Given the description of an element on the screen output the (x, y) to click on. 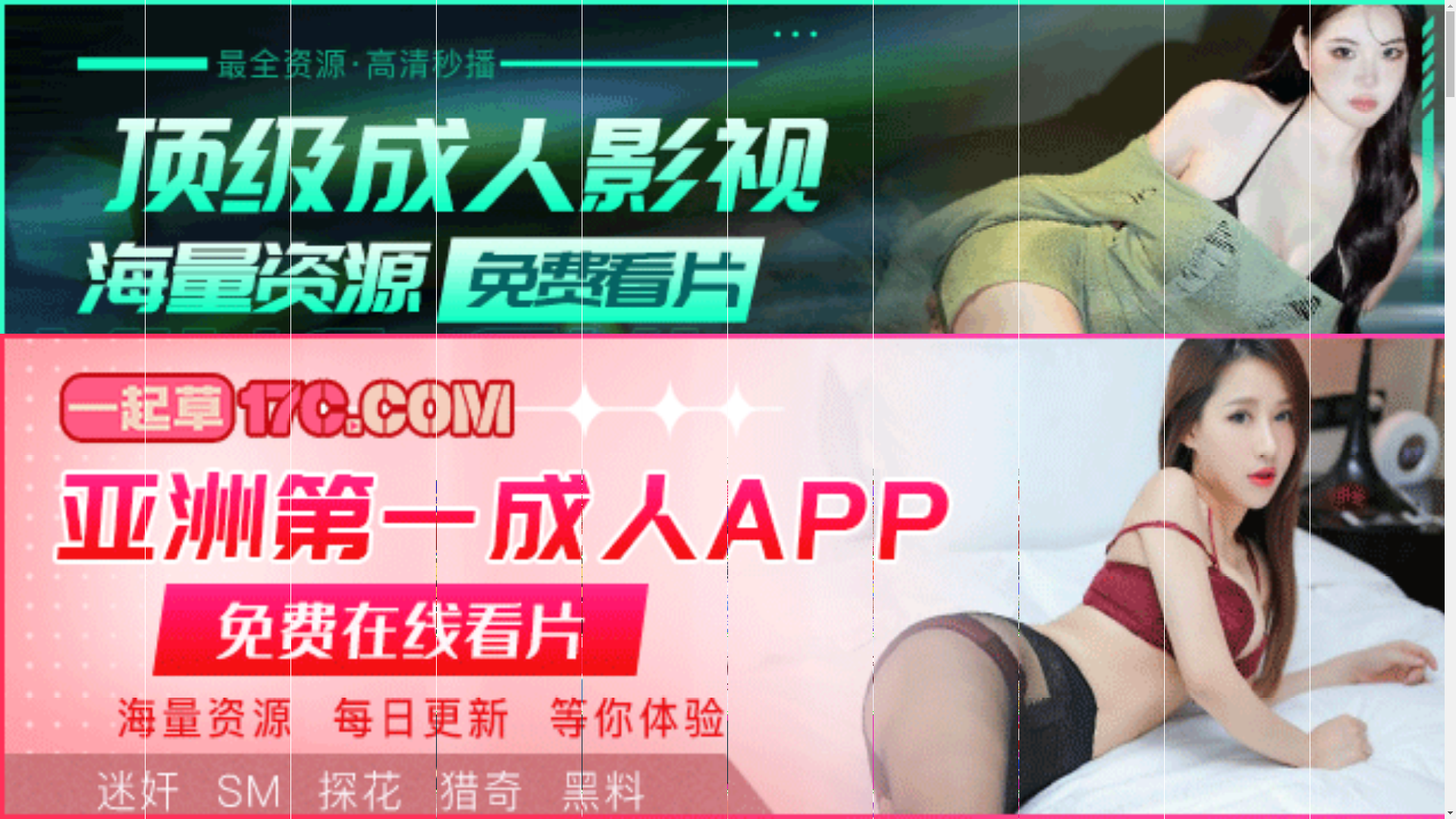
| Element type: text (64, 471)
| Element type: text (747, 471)
| Element type: text (606, 471)
| Element type: text (117, 471)
| Element type: text (797, 471)
| Element type: text (771, 471)
| Element type: text (819, 471)
| Element type: text (661, 471)
| Element type: text (704, 471)
| Element type: text (569, 471)
| Element type: text (272, 471)
| Element type: text (239, 471)
| Element type: text (502, 471)
| Element type: text (161, 471)
| Element type: text (378, 471)
| Element type: text (9, 471)
| Element type: text (329, 471)
| Element type: text (301, 471)
| Element type: text (477, 471)
| Element type: text (205, 471)
| Element type: text (433, 471)
